Given the description of an element on the screen output the (x, y) to click on. 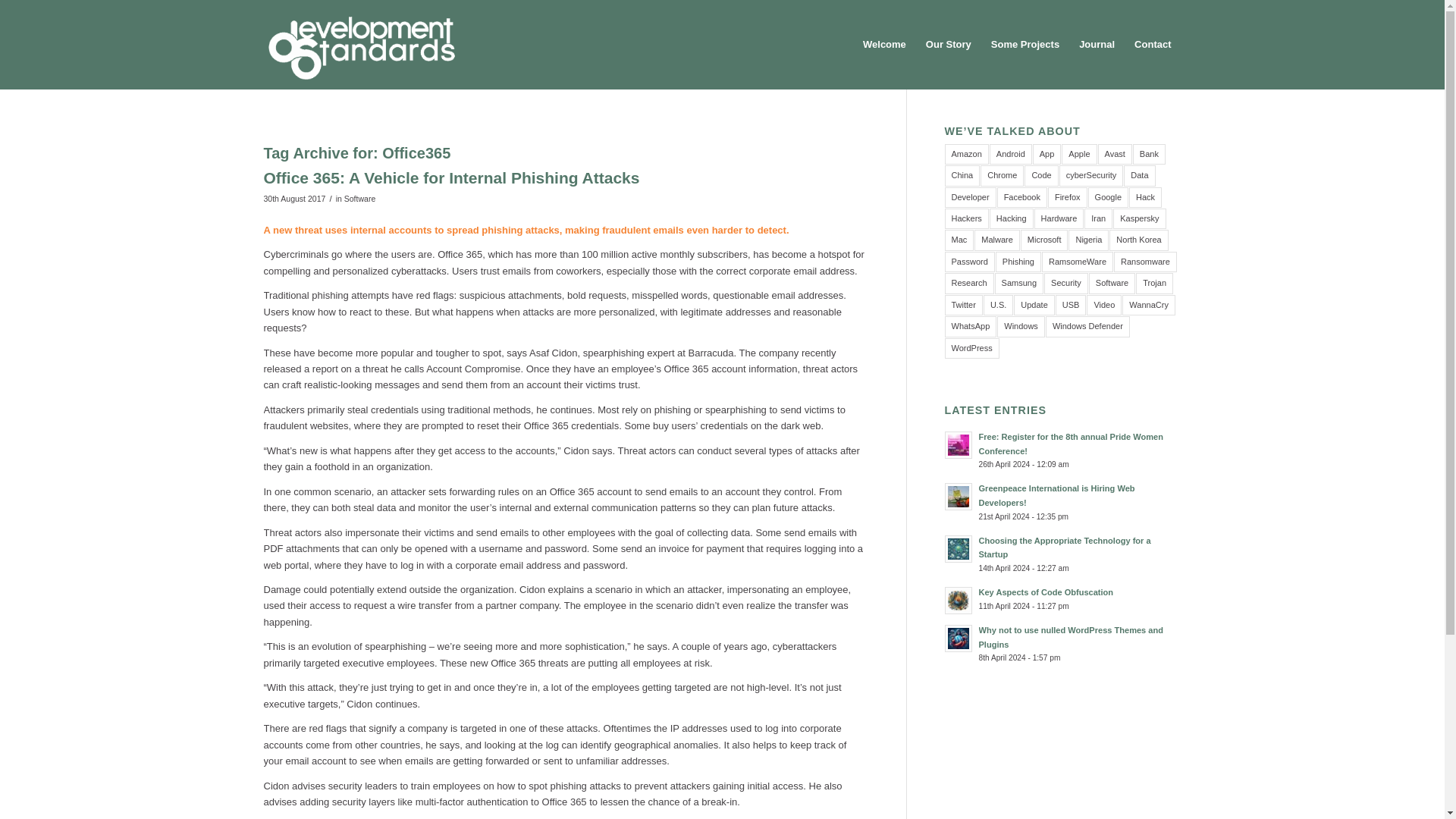
Read: Greenpeace International is Hiring Web Developers! (958, 496)
Password (969, 261)
Iran (1098, 218)
Read: Choosing the Appropriate Technology for a Startup (958, 548)
Phishing (1018, 261)
Read: Key Aspects of Code Obfuscation (1045, 592)
China (961, 175)
App (1046, 154)
Microsoft (1044, 240)
Amazon (966, 154)
North Korea (1138, 240)
Data (1139, 175)
Firefox (1067, 197)
Research (969, 282)
Hack (1145, 197)
